Given the description of an element on the screen output the (x, y) to click on. 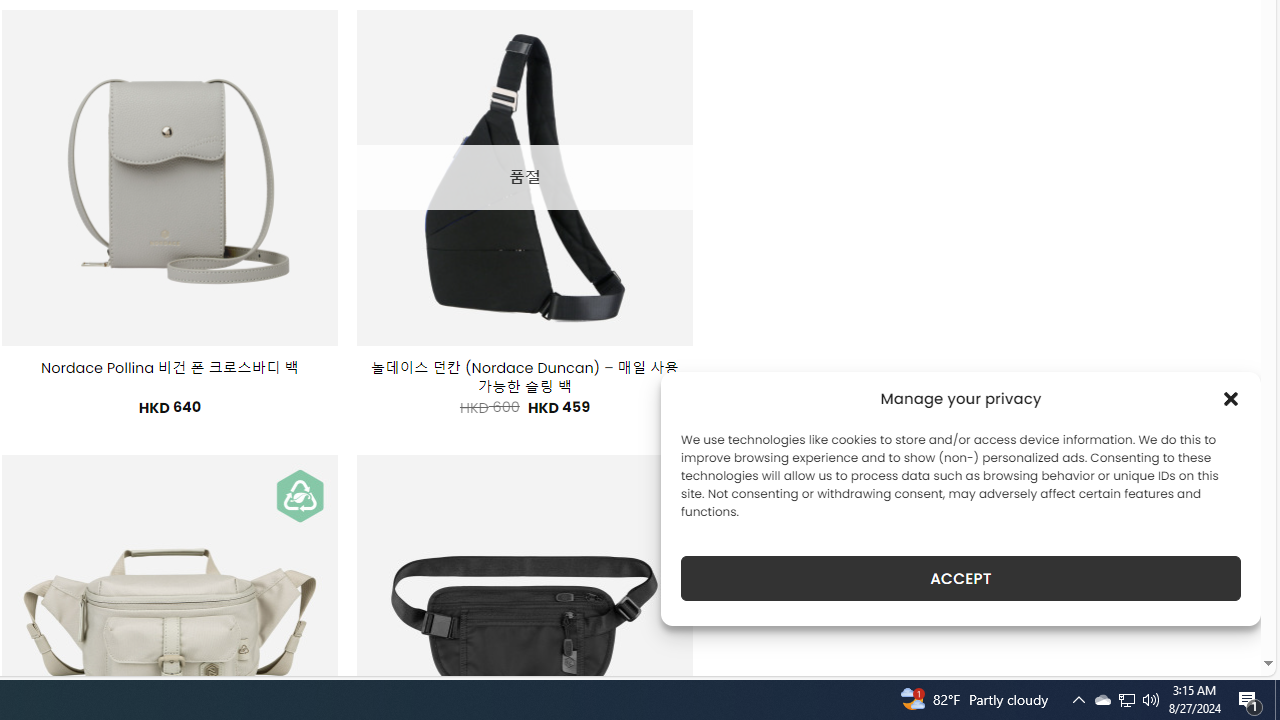
Class: cmplz-close (1231, 398)
ACCEPT (960, 578)
